Given the description of an element on the screen output the (x, y) to click on. 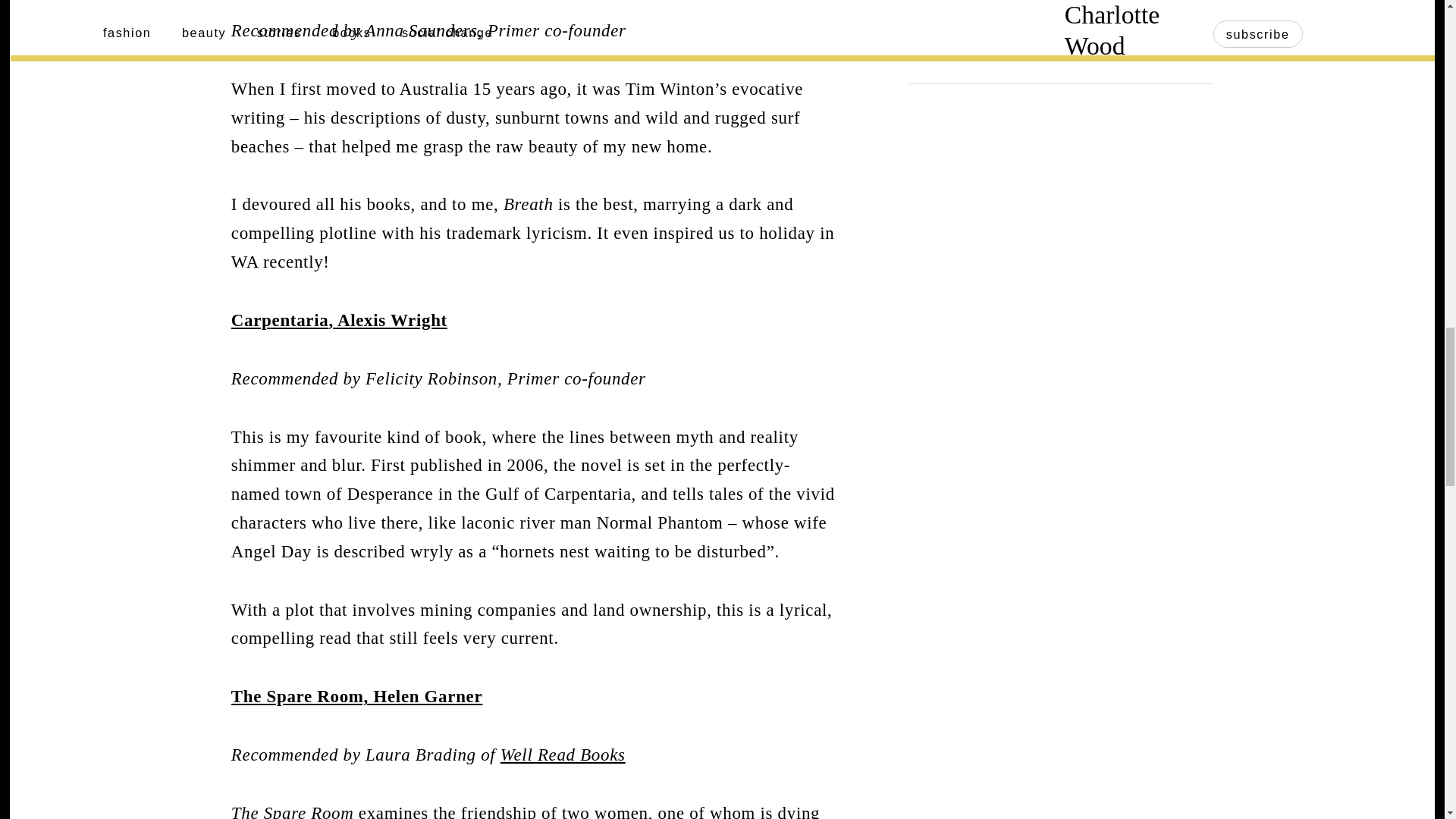
Carpentaria (280, 320)
Top Shelf With Charlotte Wood (1114, 26)
Well Read Books (563, 754)
The Spare Room, Helen Garner (356, 696)
